Given the description of an element on the screen output the (x, y) to click on. 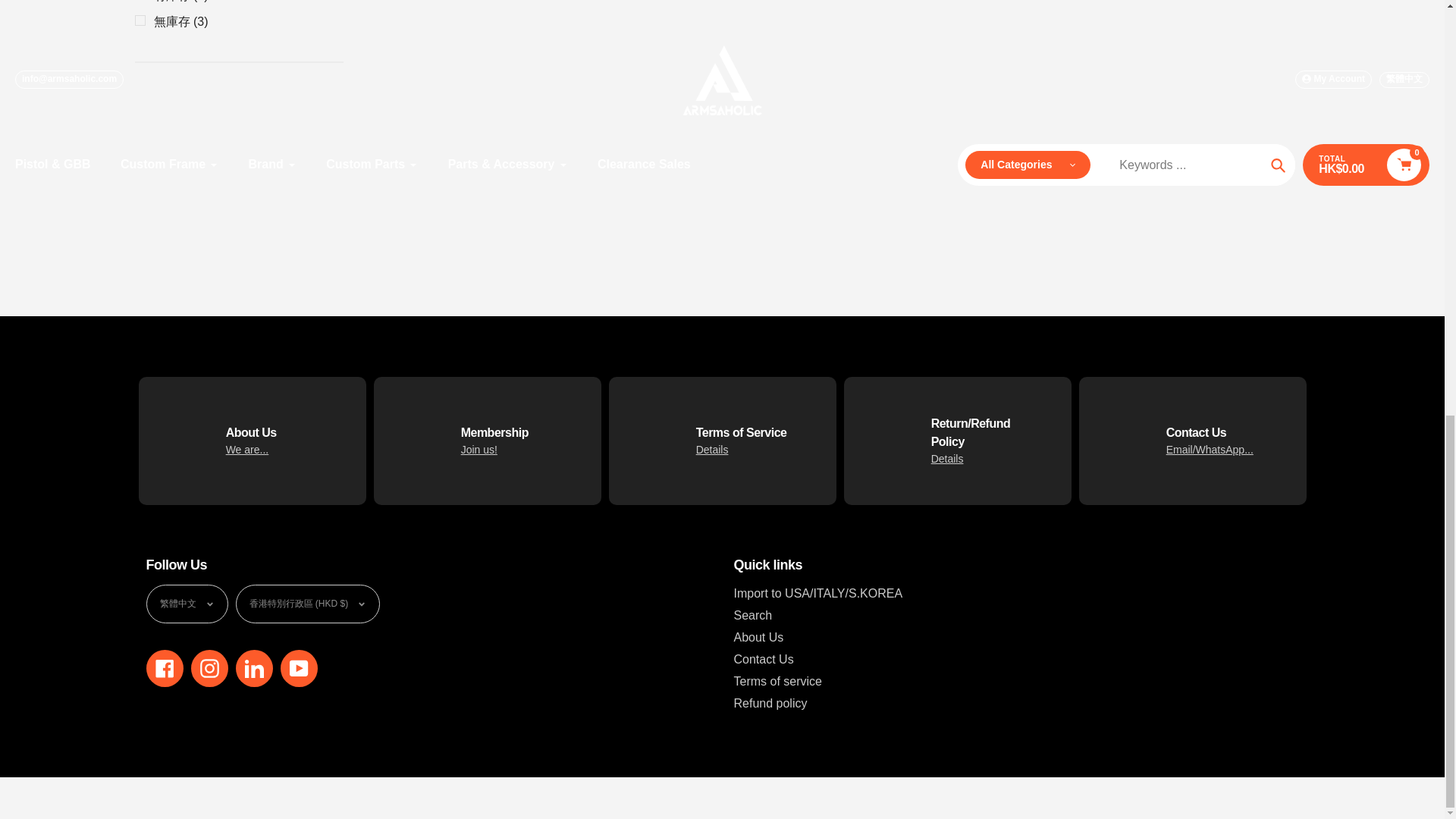
Terms of Service (712, 449)
Rewards Points (479, 449)
Contact Us (1209, 449)
Refund Policy (947, 458)
About Us (247, 449)
